Given the description of an element on the screen output the (x, y) to click on. 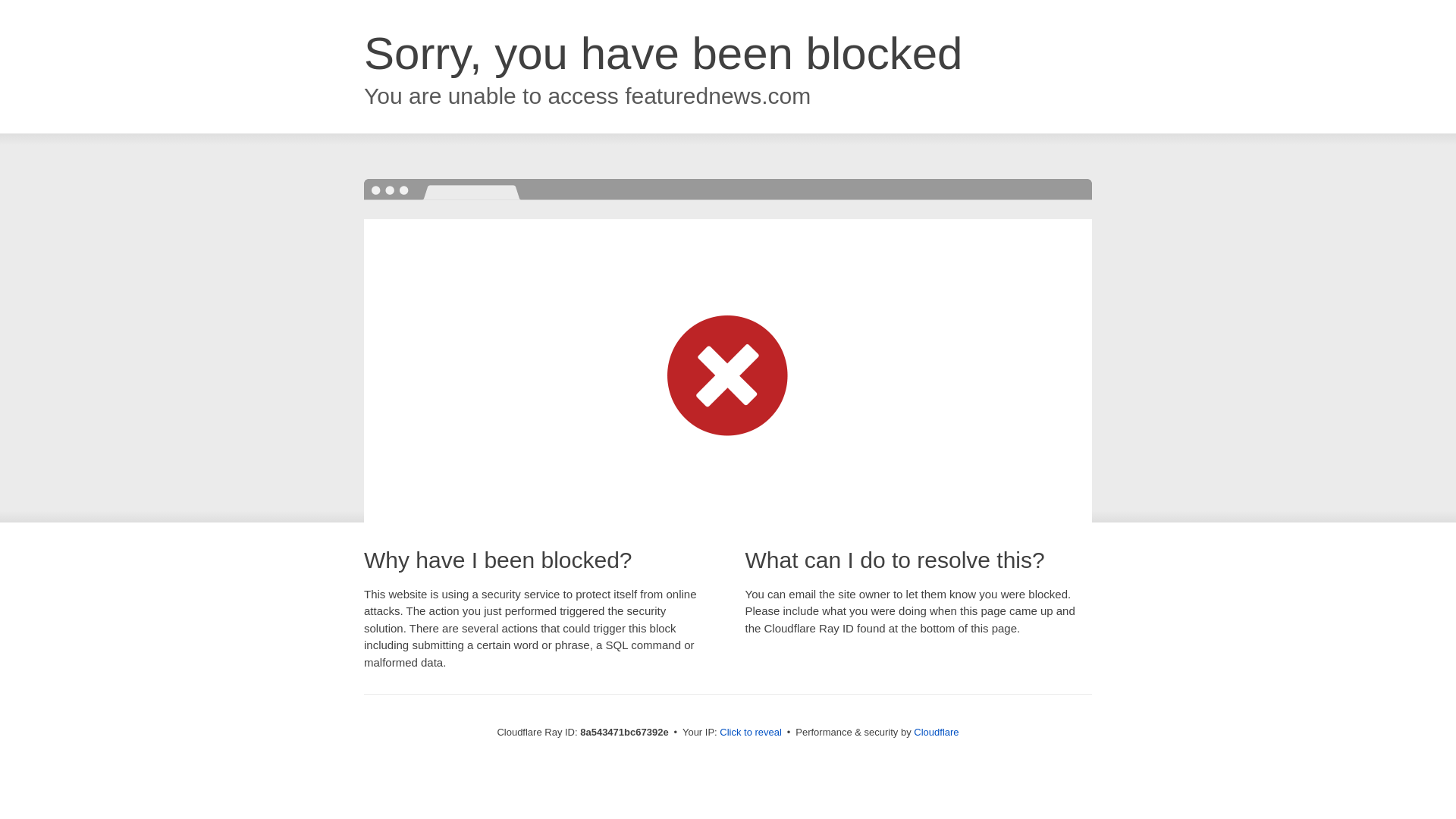
Cloudflare (936, 731)
Click to reveal (750, 732)
